Given the description of an element on the screen output the (x, y) to click on. 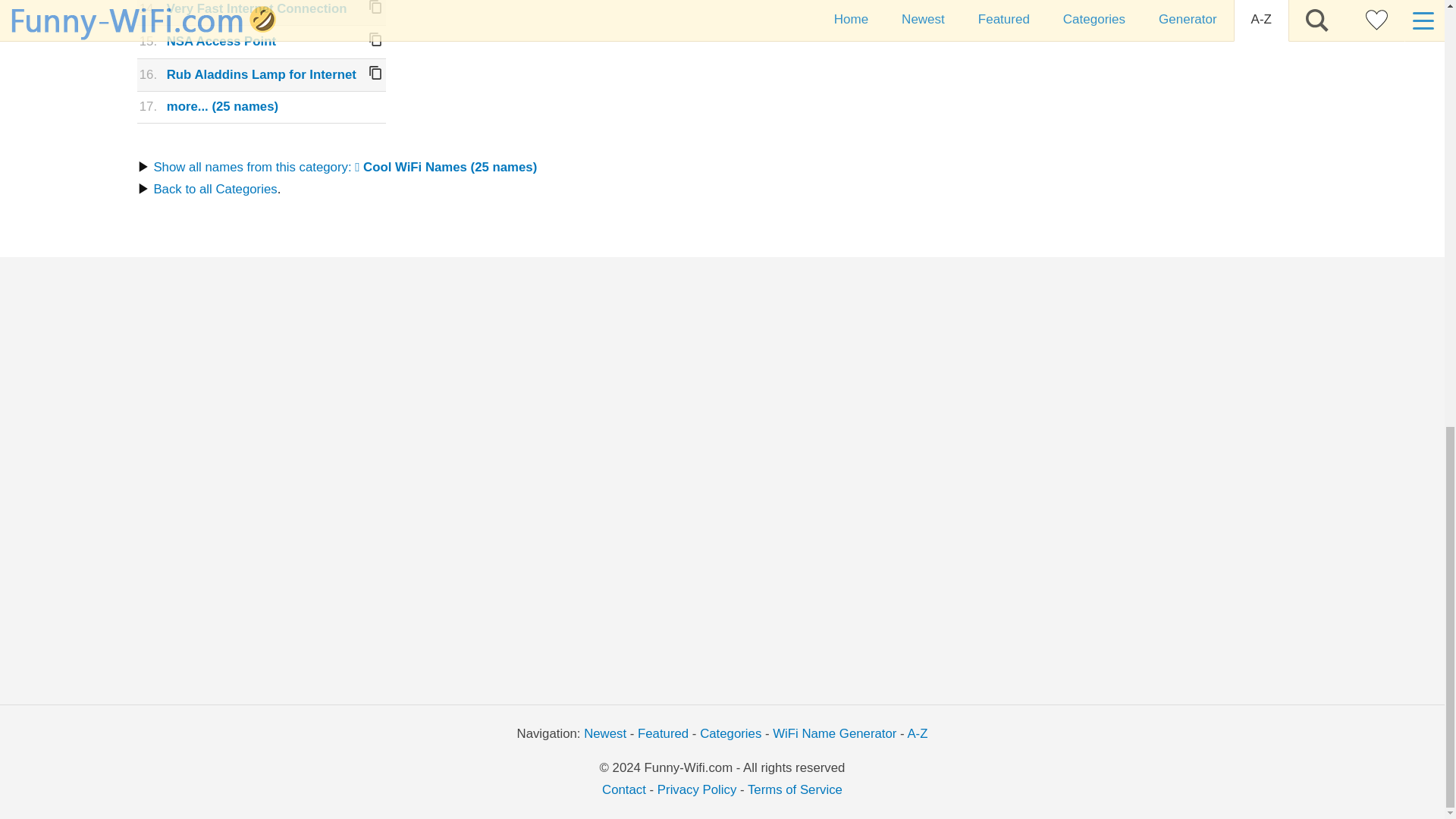
Back to all Categories (214, 188)
Featured (662, 733)
Rub Aladdins Lamp for Internet (261, 74)
Newest (604, 733)
Very Fast Internet Connection (257, 8)
NSA Access Point (221, 41)
